Given the description of an element on the screen output the (x, y) to click on. 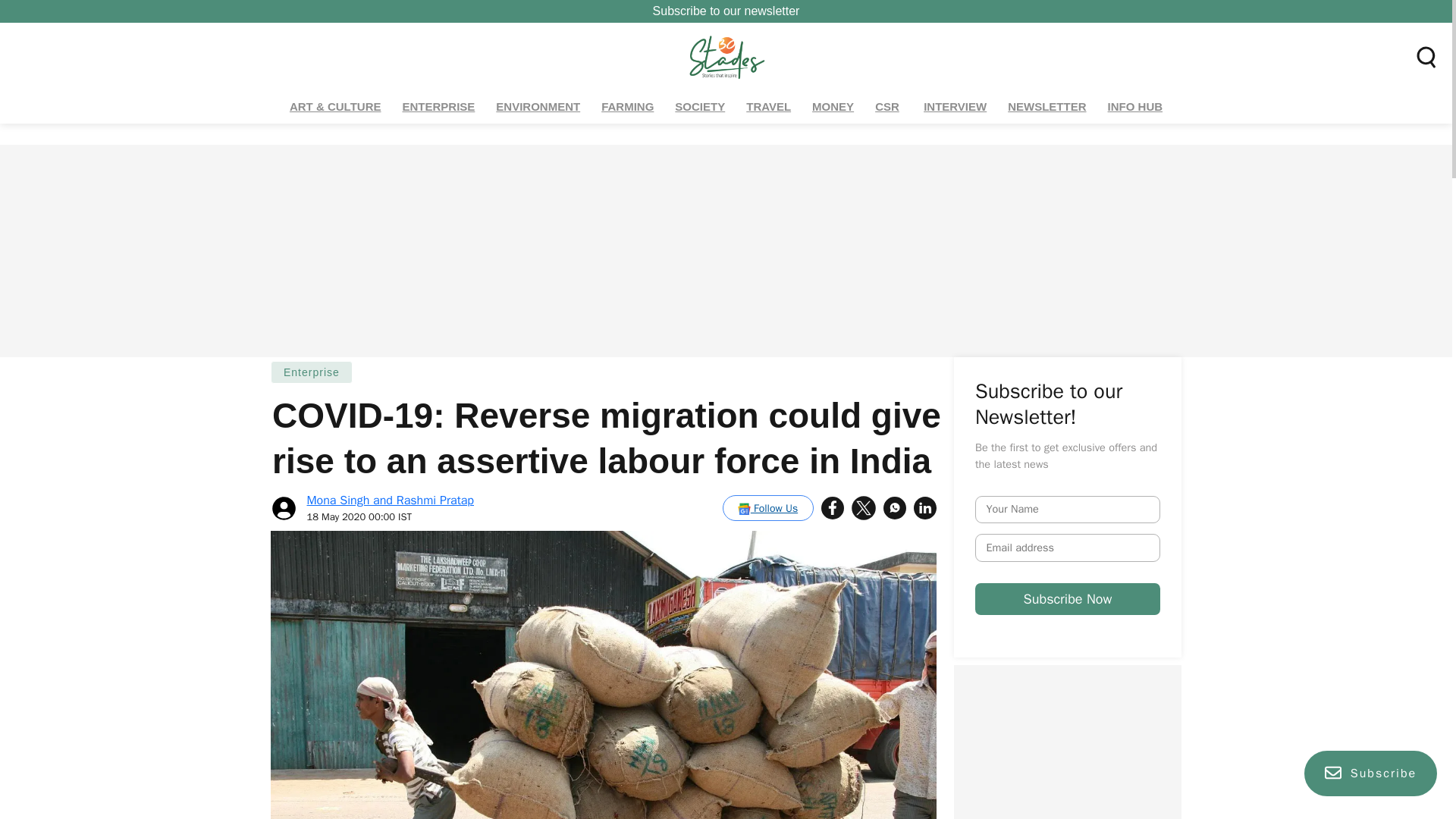
INTERVIEW (954, 106)
NEWSLETTER (1046, 106)
CSR (888, 106)
Follow Us (767, 507)
MONEY (832, 106)
ENVIRONMENT (537, 106)
FARMING (627, 106)
Advertisement (1066, 742)
SOCIETY (699, 106)
